Given the description of an element on the screen output the (x, y) to click on. 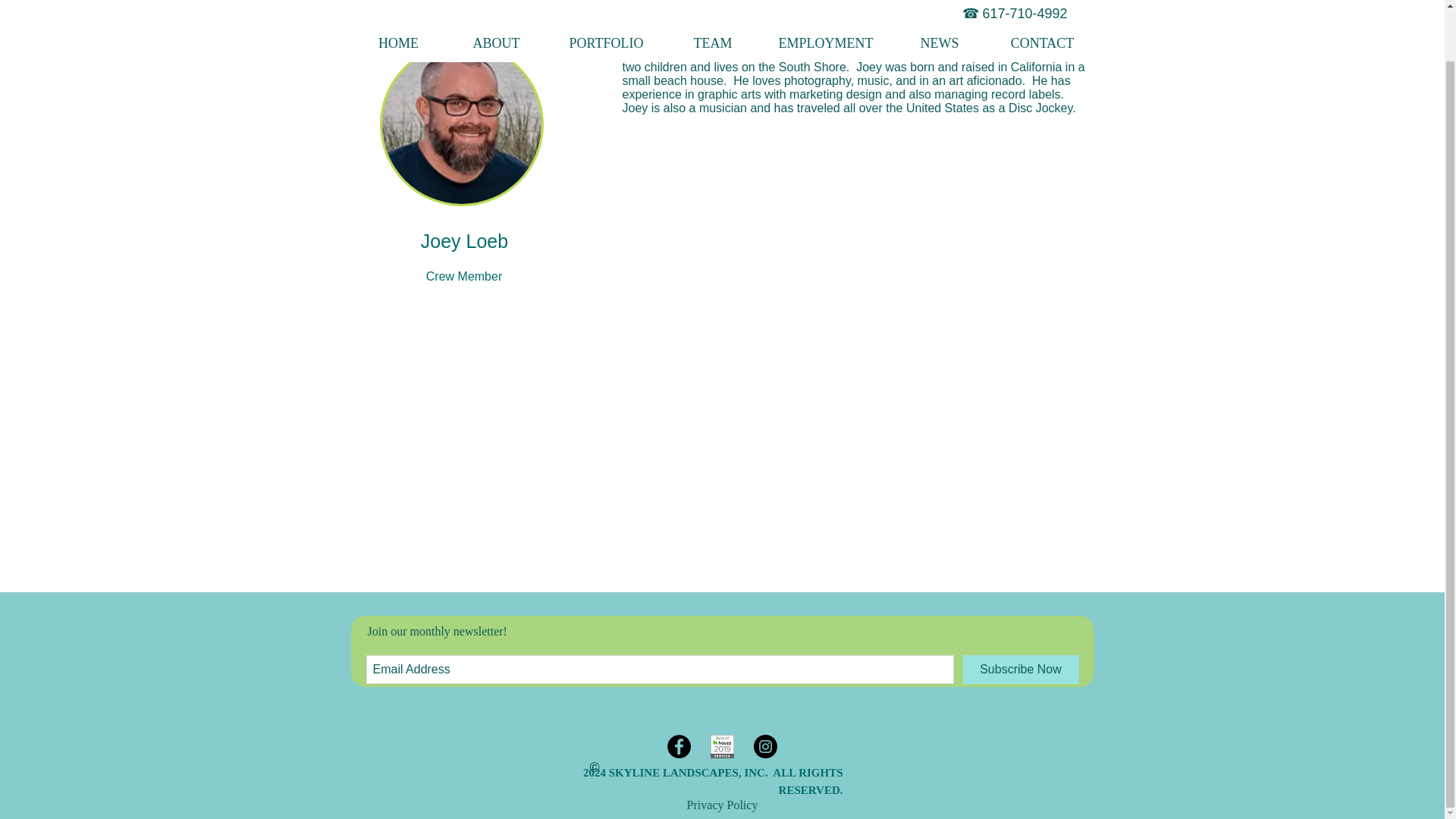
PORTFOLIO (605, 3)
Privacy Policy (722, 804)
TEAM (711, 3)
EMPLOYMENT (826, 3)
ABOUT (495, 3)
NEWS (939, 3)
Subscribe Now (1020, 669)
HOME (397, 3)
CONTACT (1042, 3)
